Given the description of an element on the screen output the (x, y) to click on. 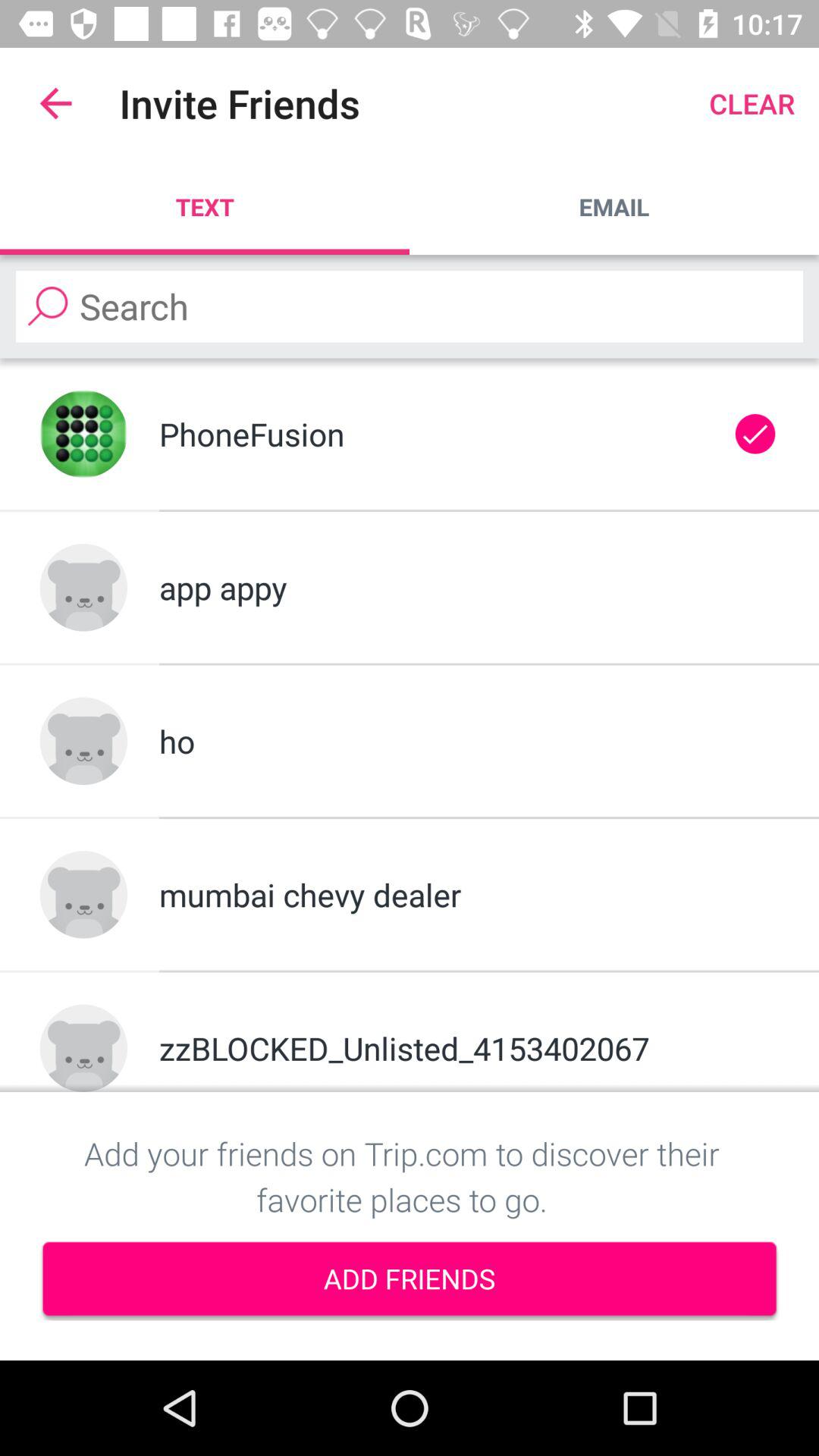
search bar (409, 306)
